Given the description of an element on the screen output the (x, y) to click on. 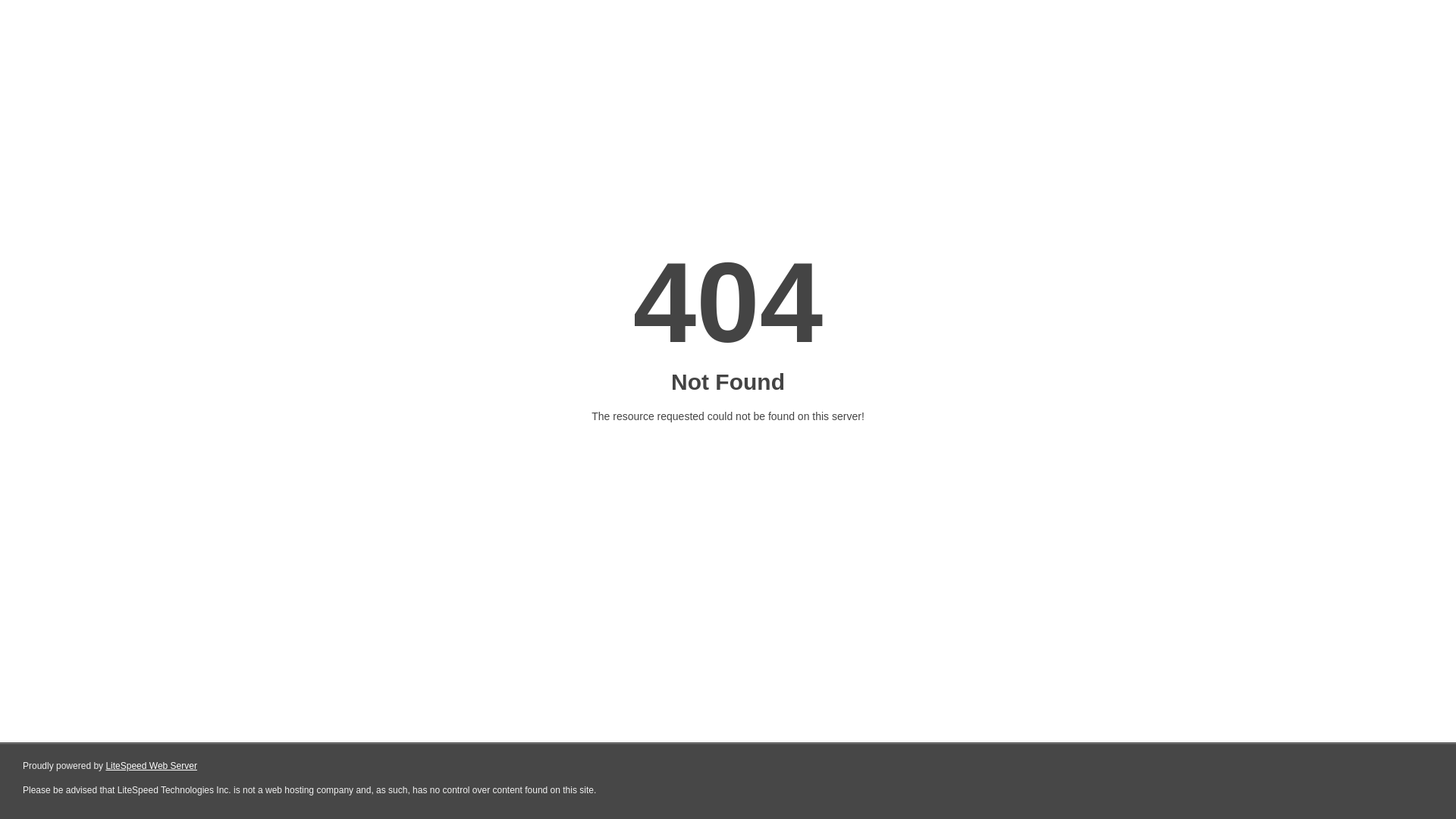
LiteSpeed Web Server Element type: text (151, 765)
